Given the description of an element on the screen output the (x, y) to click on. 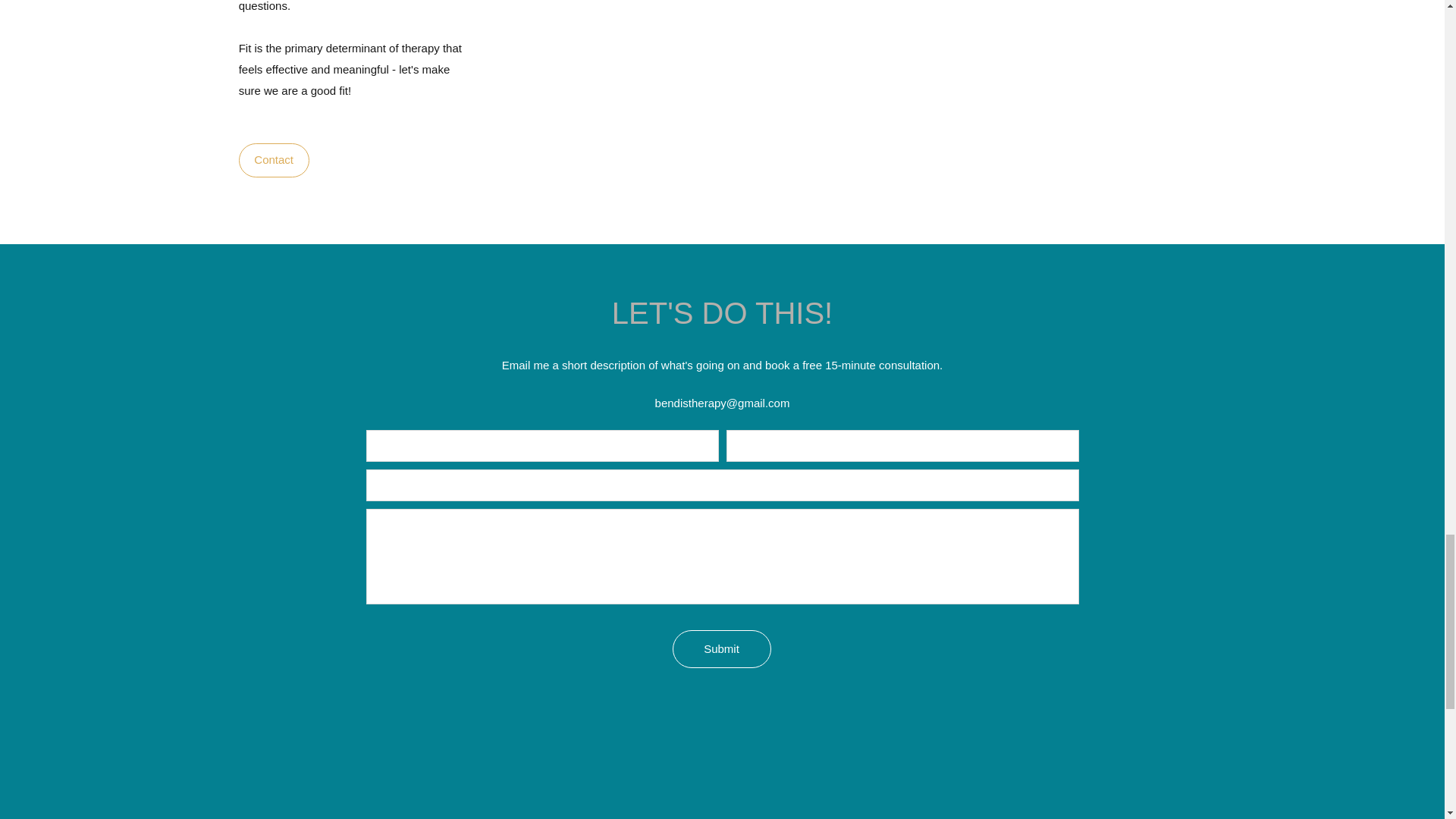
Contact (273, 159)
Submit (720, 648)
